Given the description of an element on the screen output the (x, y) to click on. 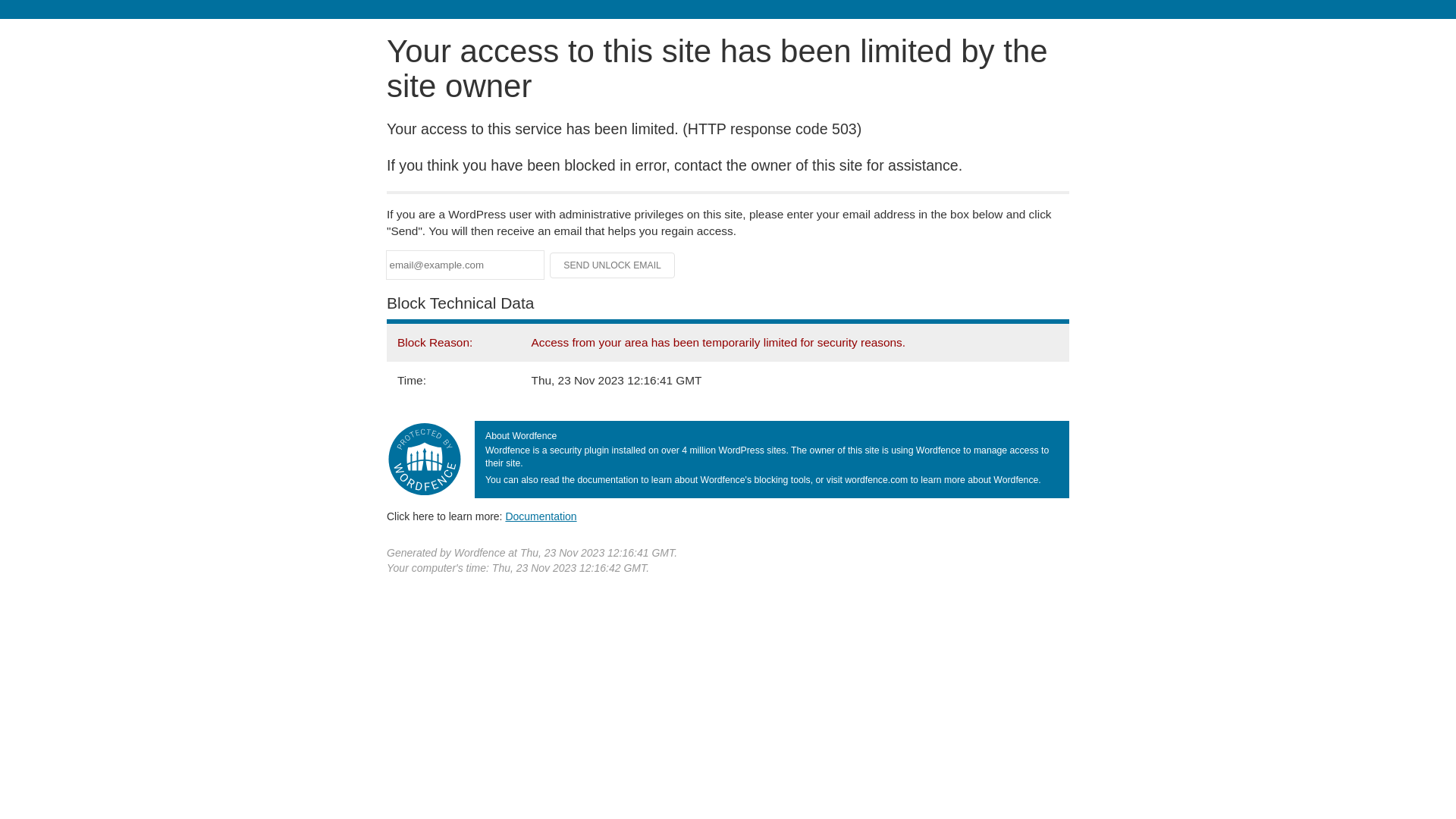
Documentation Element type: text (540, 516)
Send Unlock Email Element type: text (612, 265)
